Given the description of an element on the screen output the (x, y) to click on. 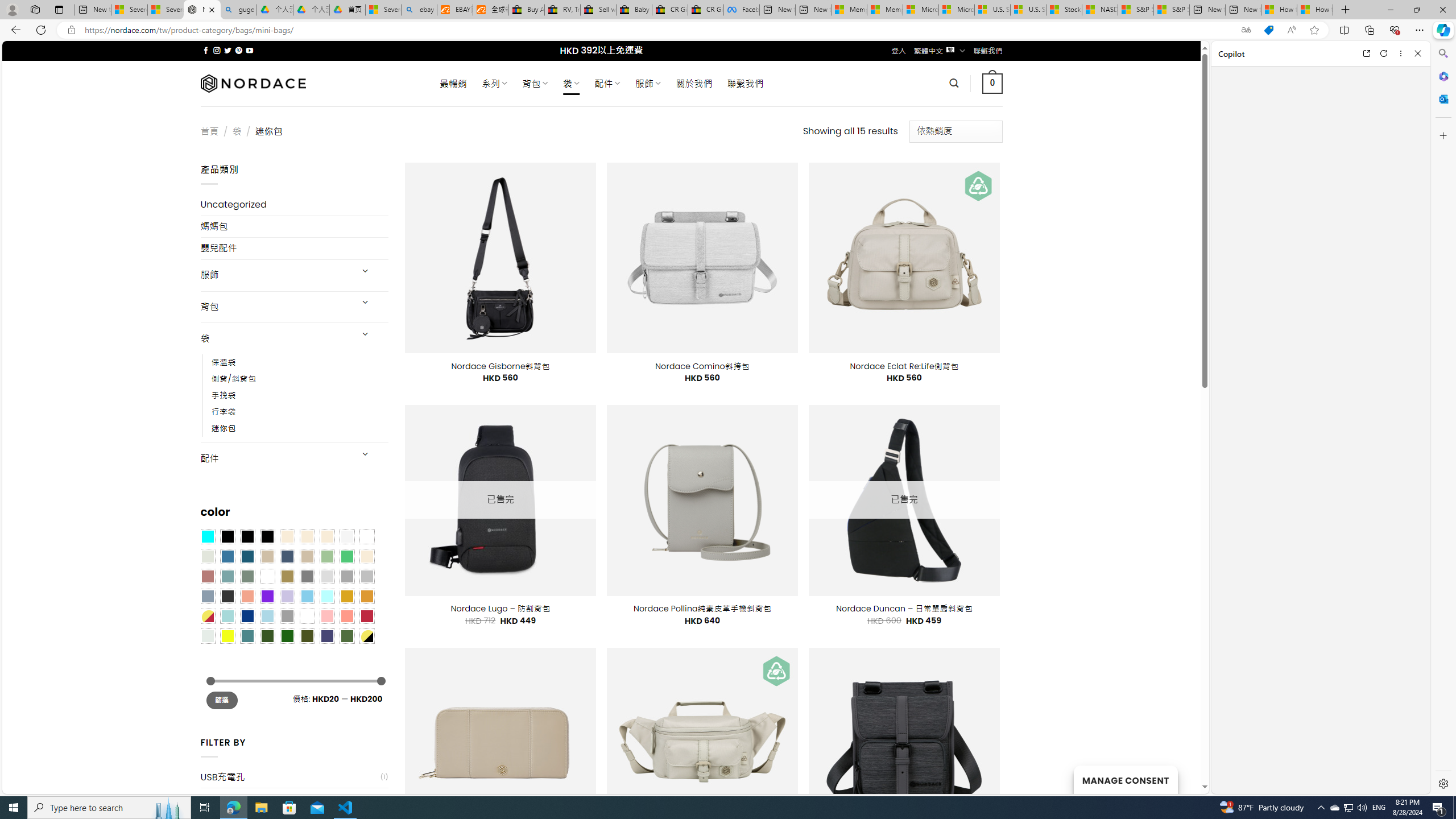
Side bar (1443, 418)
